Given the description of an element on the screen output the (x, y) to click on. 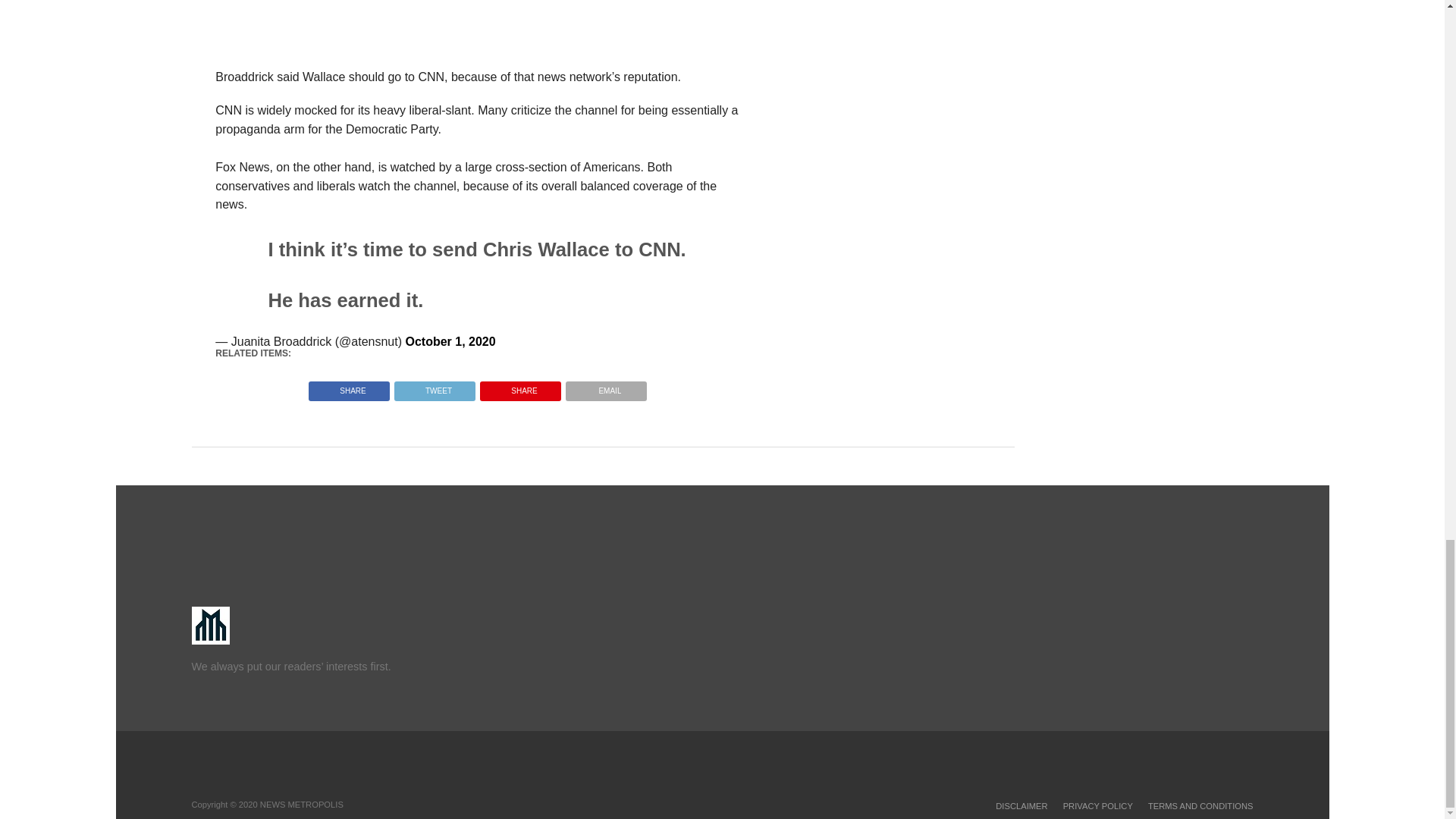
Share on Facebook (349, 386)
TWEET (434, 386)
Pin This Post (520, 386)
Tweet This Post (434, 386)
SHARE (520, 386)
EMAIL (605, 386)
October 1, 2020 (449, 341)
Advertisement (602, 33)
DISCLAIMER (1020, 805)
SHARE (349, 386)
